Given the description of an element on the screen output the (x, y) to click on. 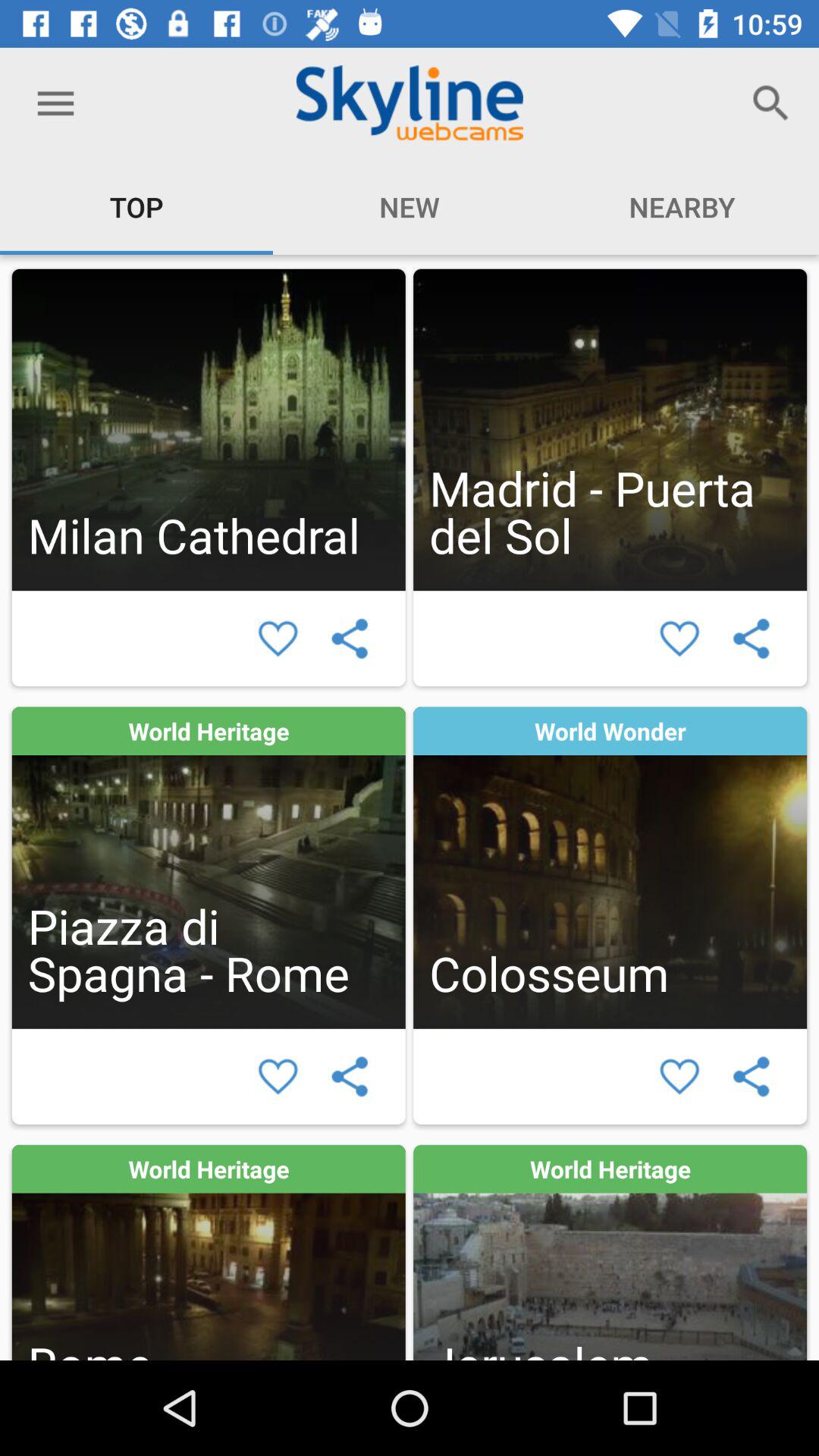
view camera feed (208, 429)
